Given the description of an element on the screen output the (x, y) to click on. 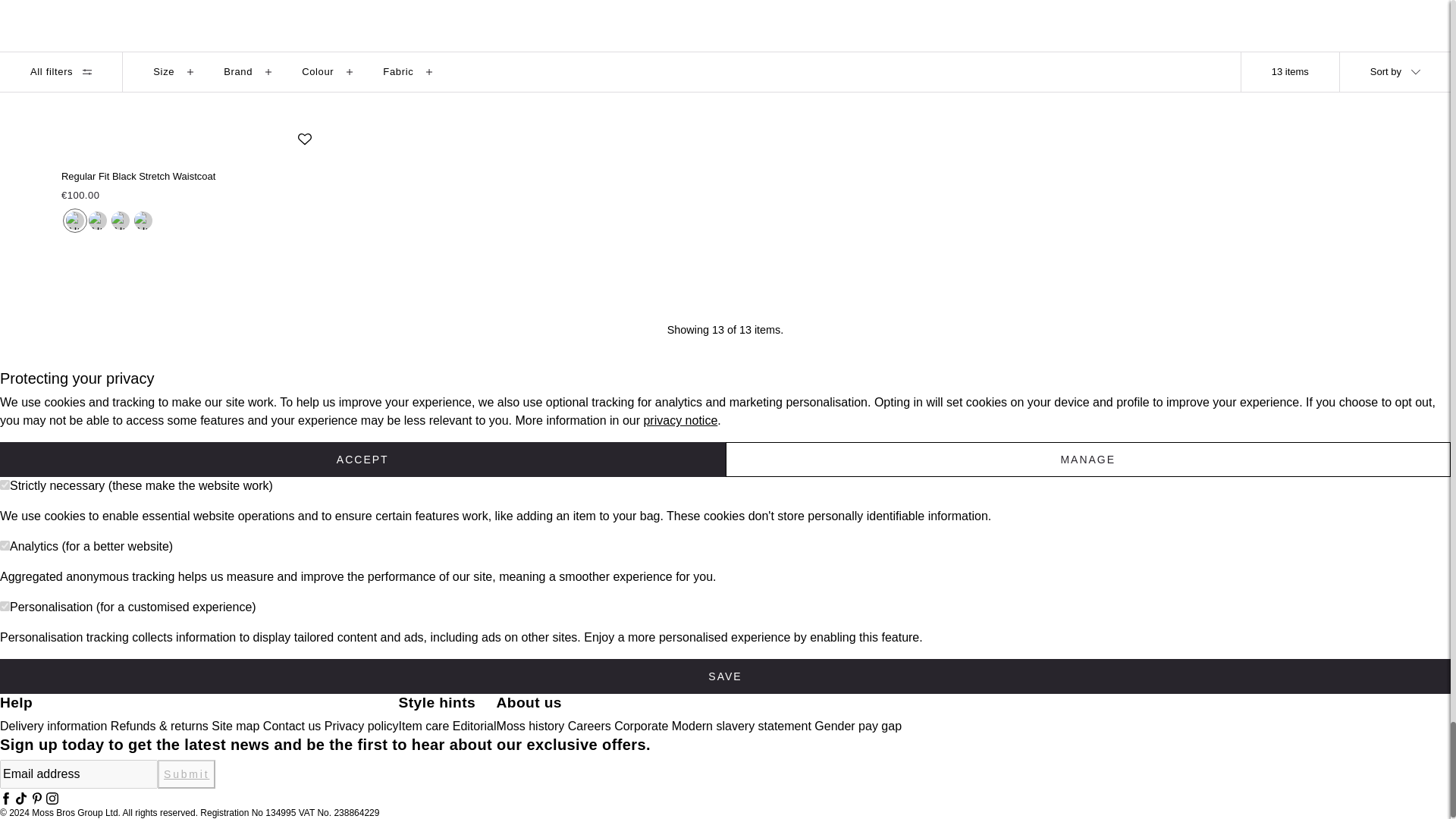
on (5, 484)
on (5, 545)
on (5, 605)
